Given the description of an element on the screen output the (x, y) to click on. 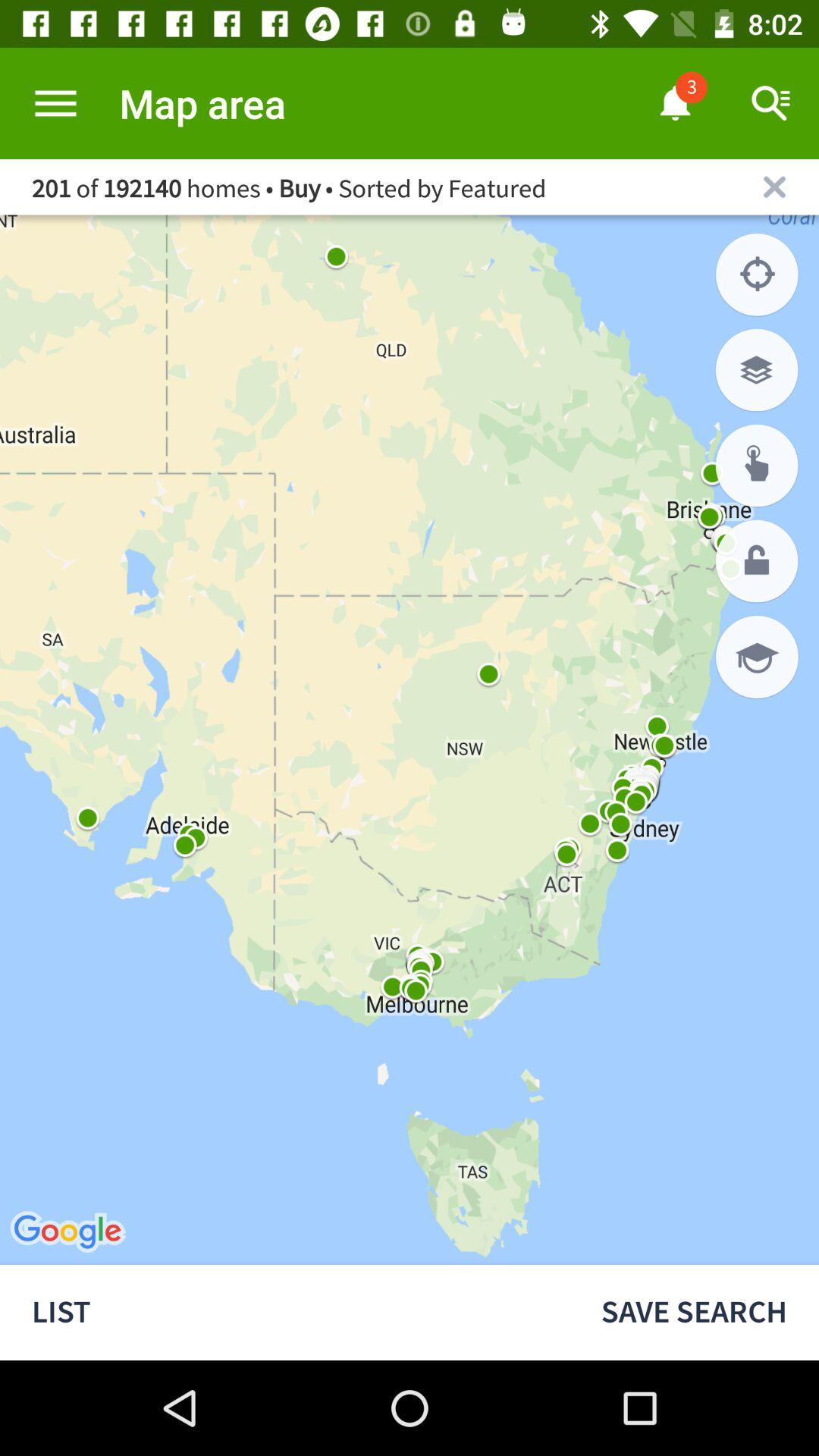
open icon above save search icon (756, 656)
